Given the description of an element on the screen output the (x, y) to click on. 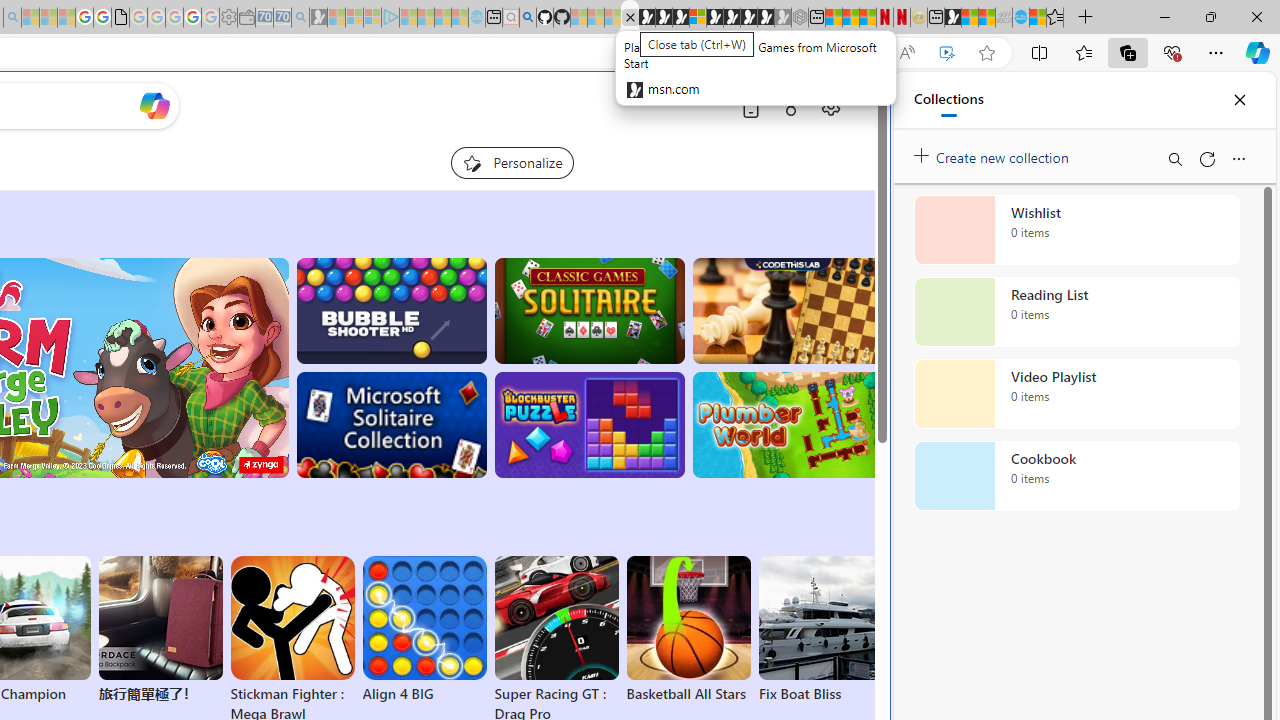
Fix Boat Bliss (820, 694)
Personalize your feed" (511, 162)
Create new collection (994, 153)
Sign in to your account (697, 17)
Frequently visited (418, 265)
